Given the description of an element on the screen output the (x, y) to click on. 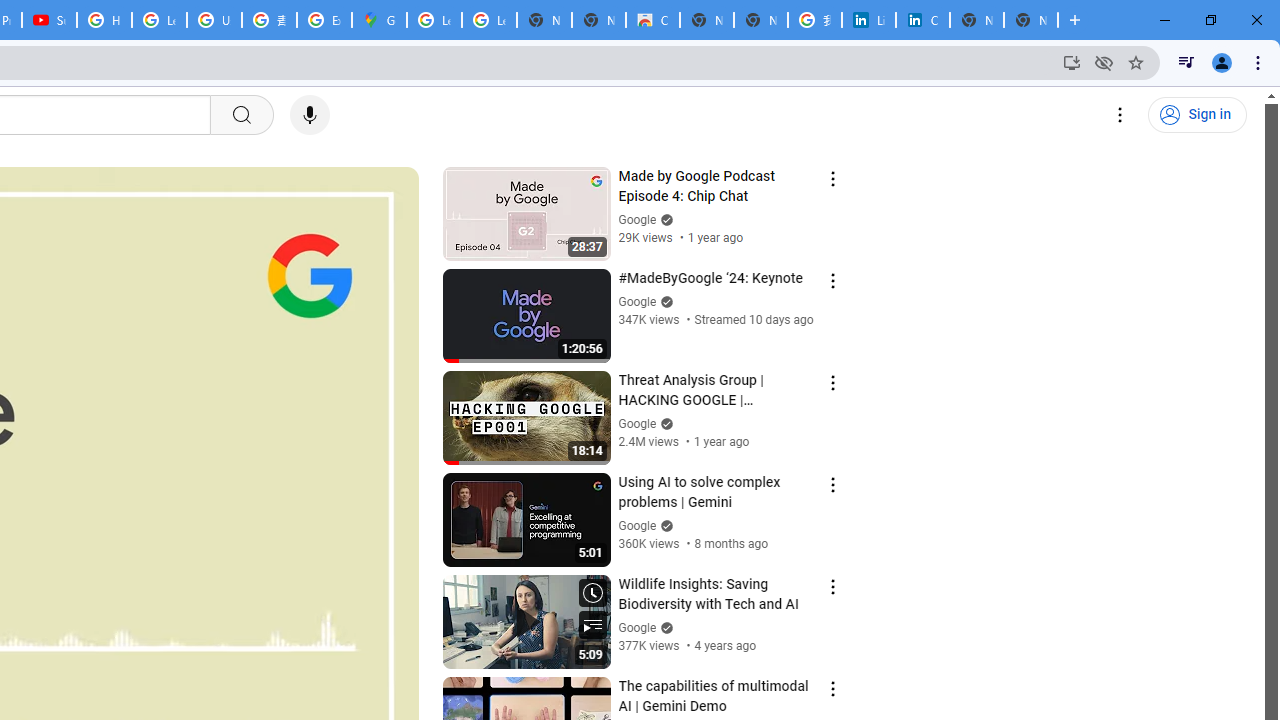
Subscriptions - YouTube (48, 20)
LinkedIn Login, Sign in | LinkedIn (868, 20)
Action menu (832, 688)
